Given the description of an element on the screen output the (x, y) to click on. 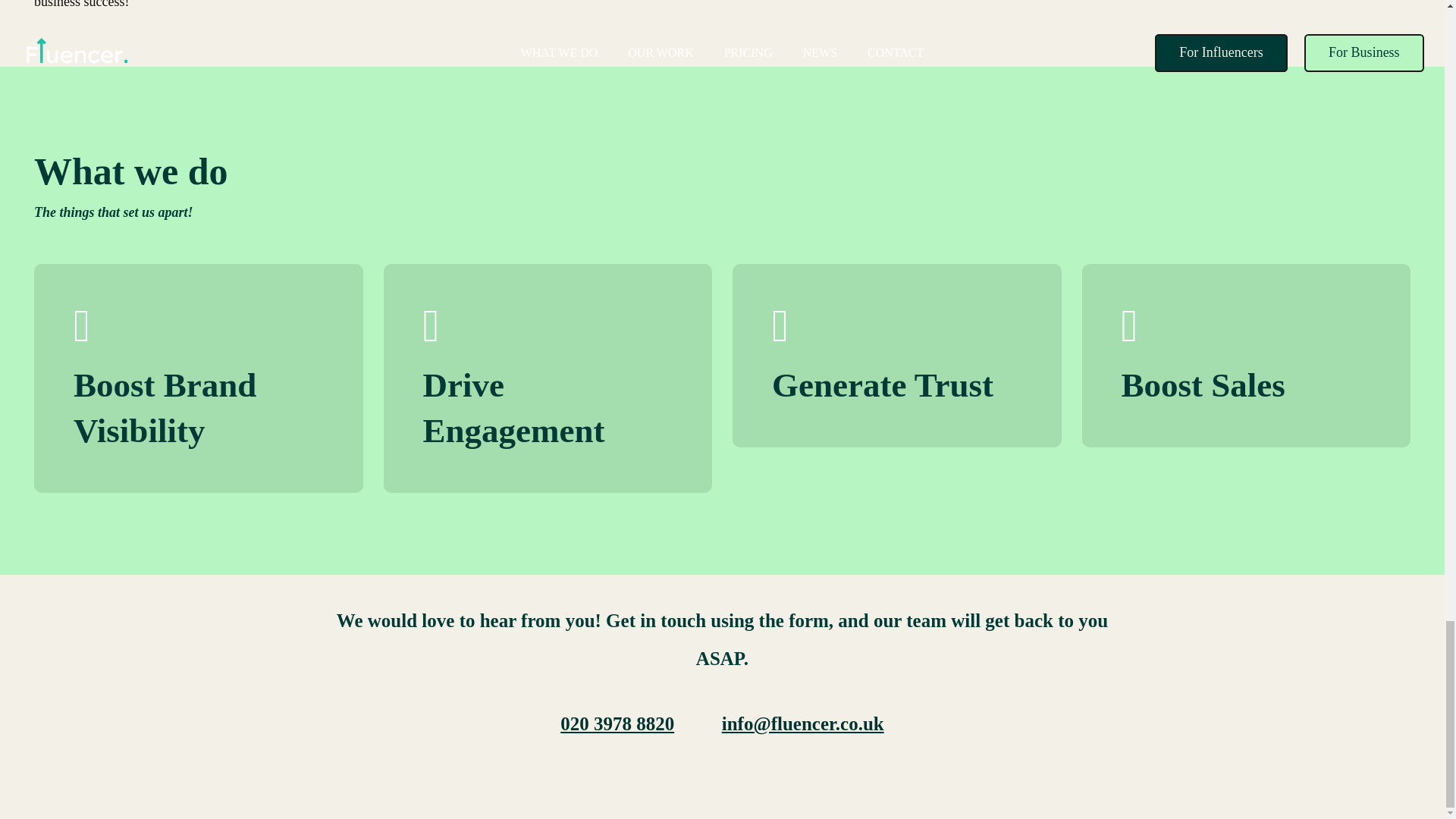
020 3978 8820 (617, 723)
